Given the description of an element on the screen output the (x, y) to click on. 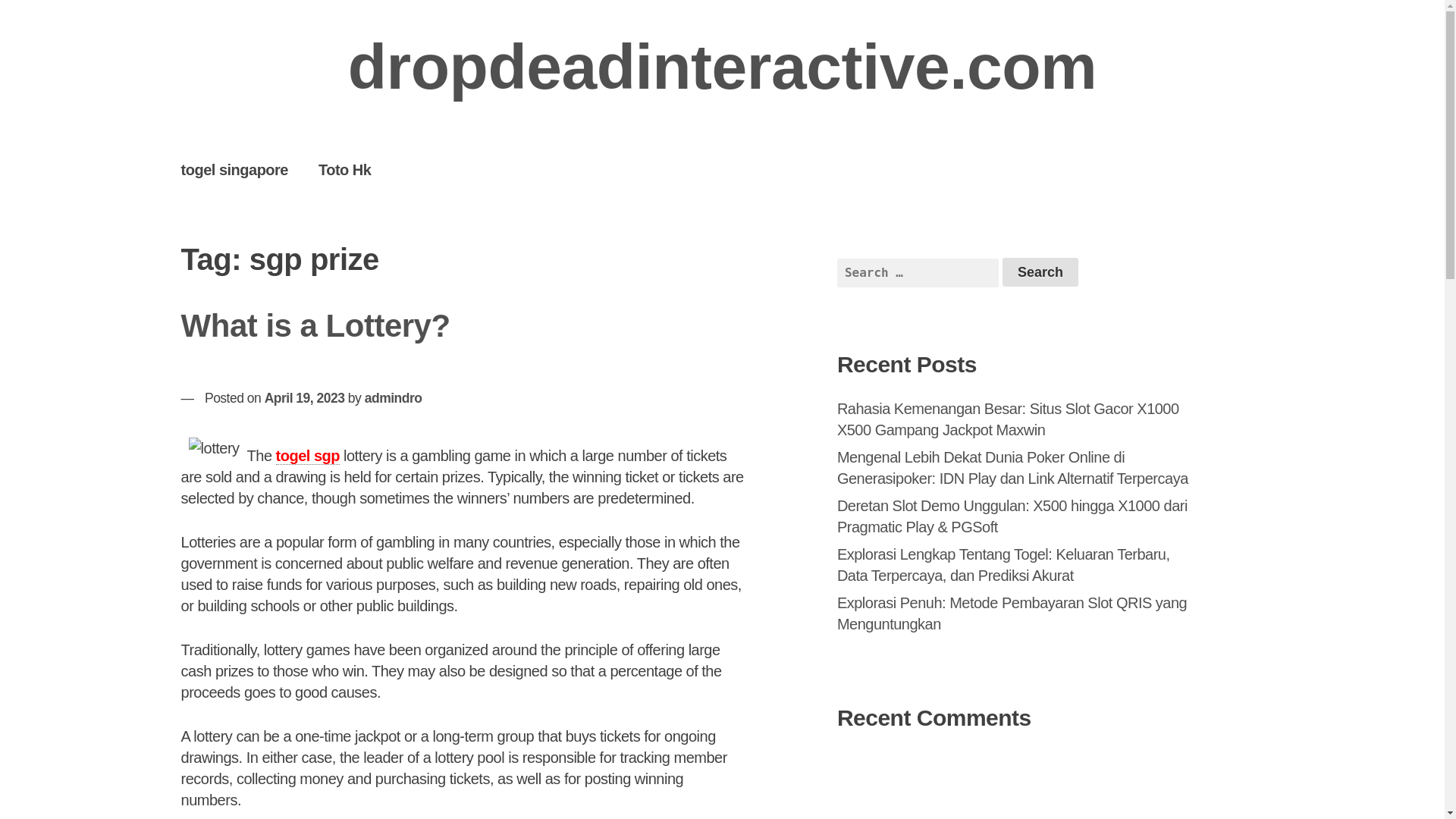
What is a Lottery? (314, 325)
Search (1040, 271)
dropdeadinteractive.com (721, 66)
Toto Hk (343, 169)
togel singapore (233, 169)
Search (1040, 271)
togel sgp (307, 456)
April 19, 2023 (304, 397)
admindro (393, 397)
